Given the description of an element on the screen output the (x, y) to click on. 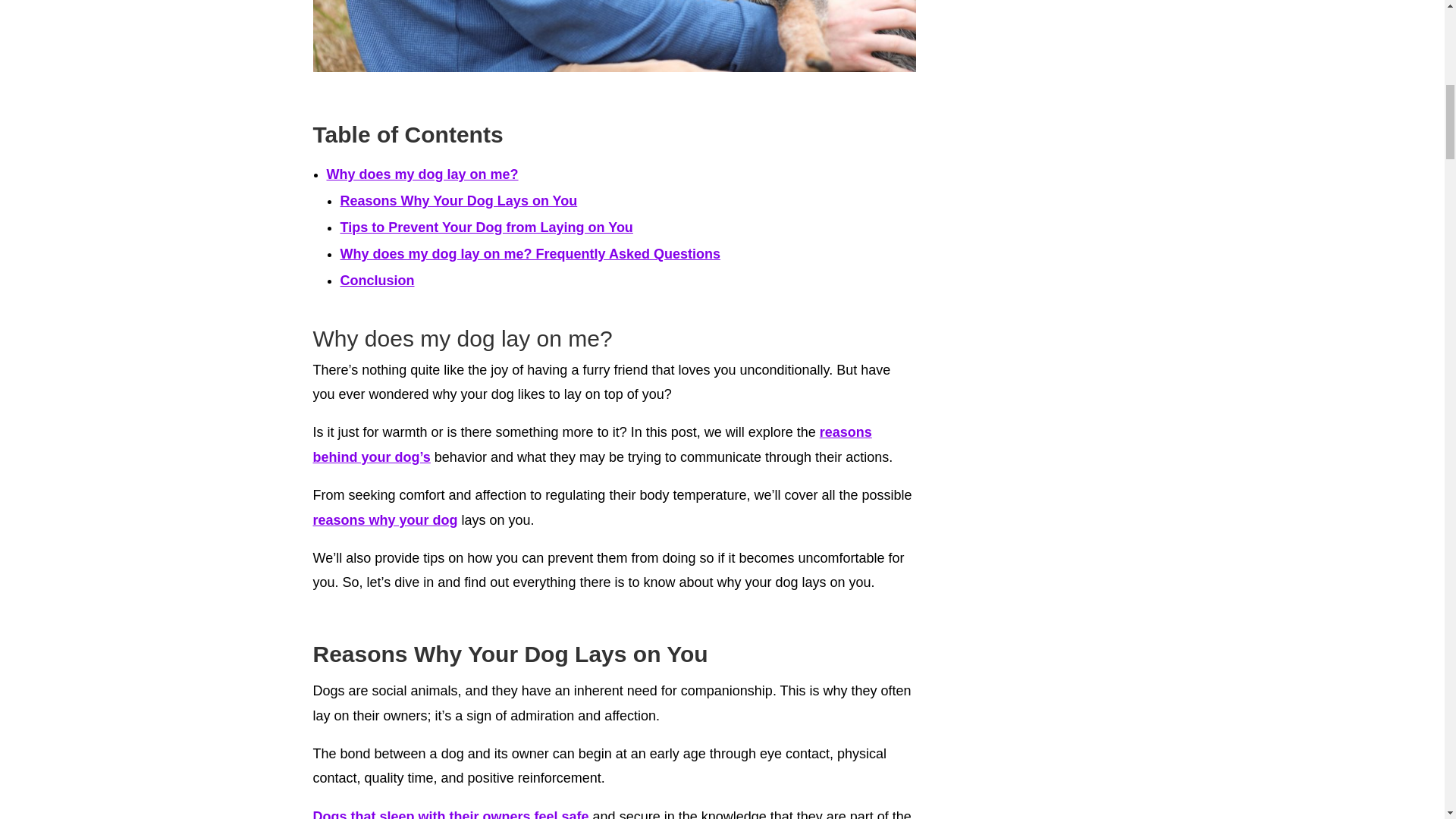
Reasons Why Your Dog Lays on You (457, 200)
Why does my dog lay on me? Frequently Asked Questions (529, 253)
Dogs that sleep with their owners feel safe (450, 814)
Why does my dog lay on me? (422, 174)
Tips to Prevent Your Dog from Laying on You (485, 227)
reasons why your dog (385, 519)
Conclusion (376, 280)
